Given the description of an element on the screen output the (x, y) to click on. 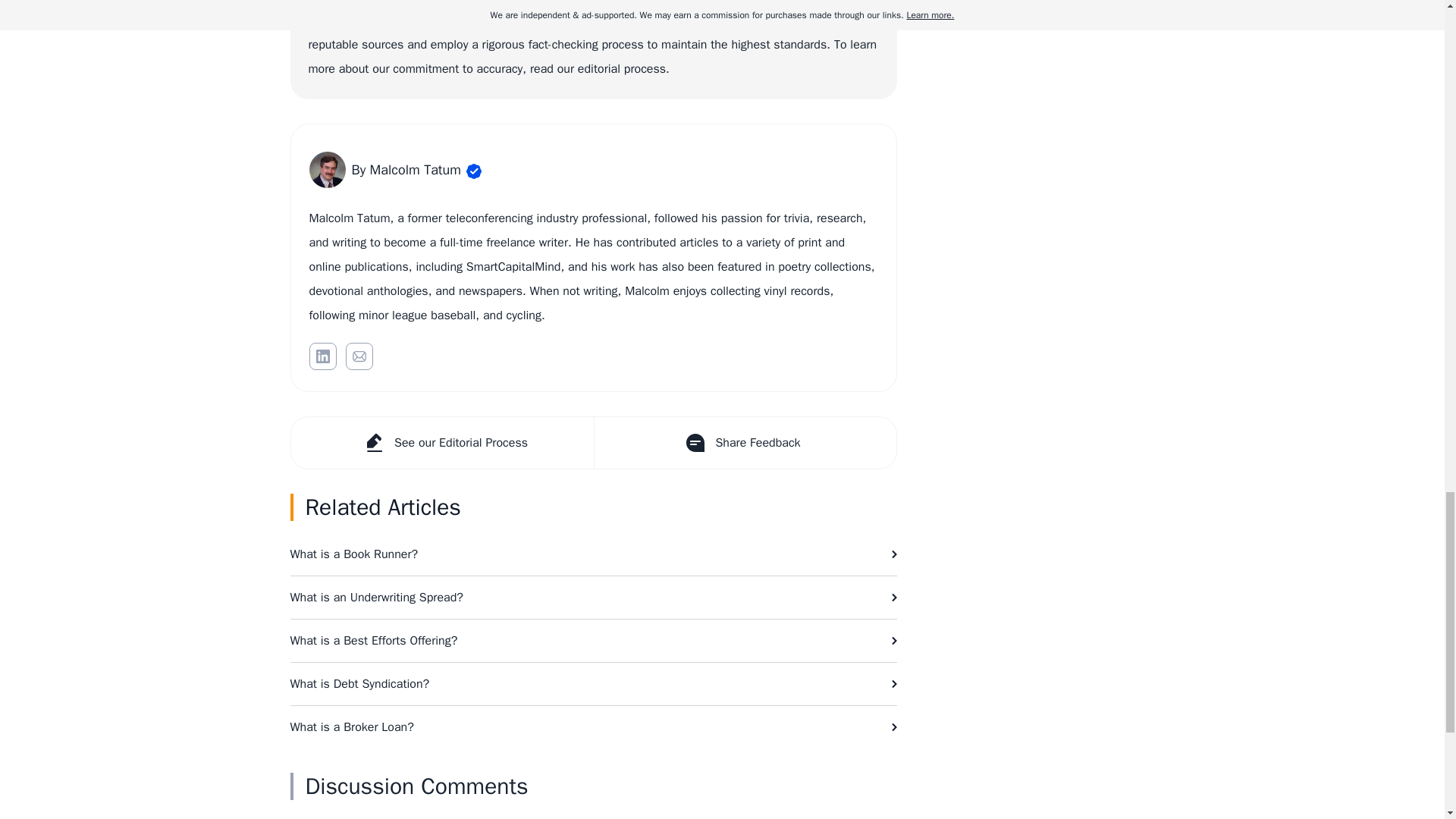
See our Editorial Process (442, 442)
